Given the description of an element on the screen output the (x, y) to click on. 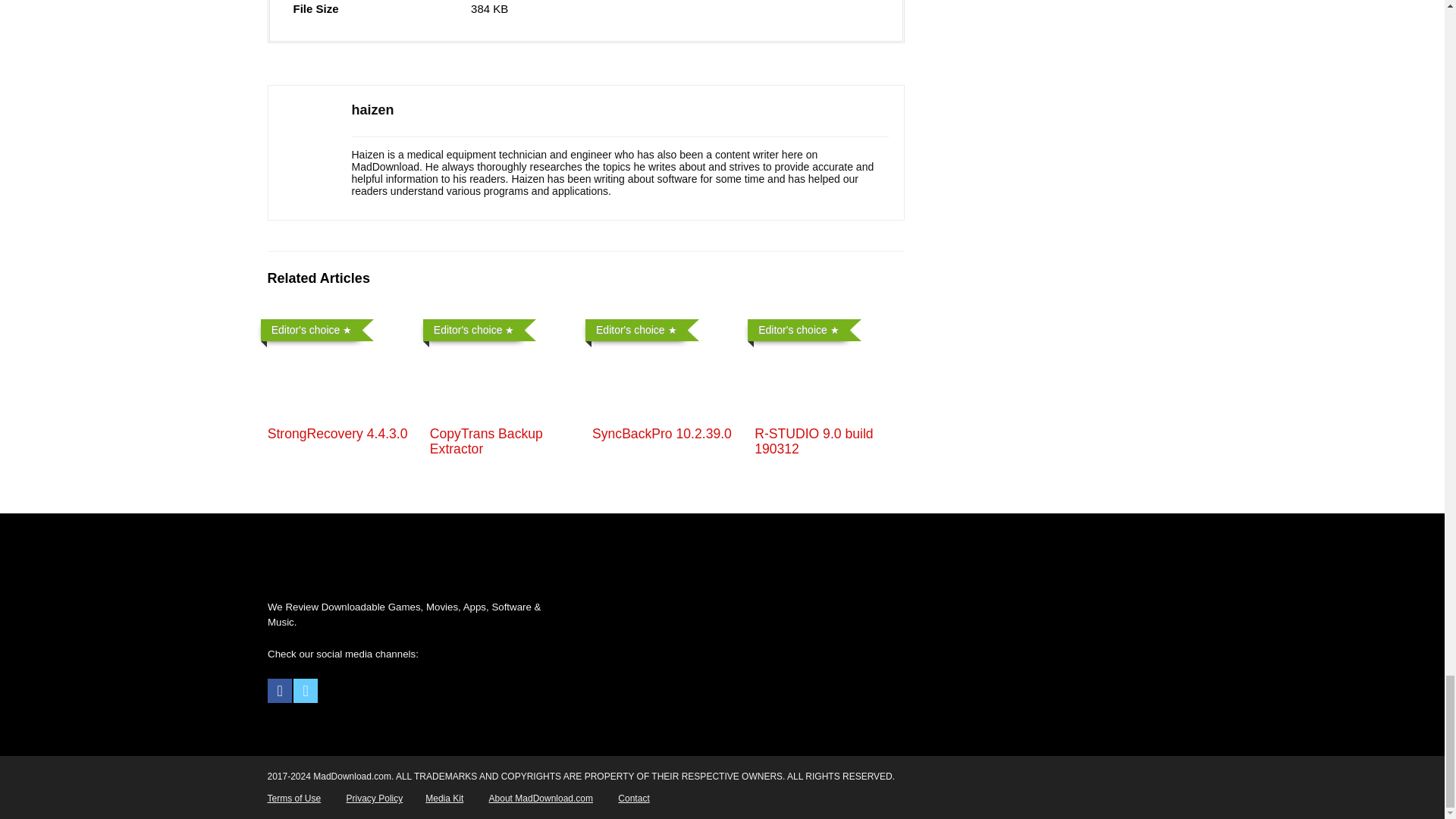
MadDownload Facebook Page (279, 690)
MadDownload Twitter Page (305, 690)
